Given the description of an element on the screen output the (x, y) to click on. 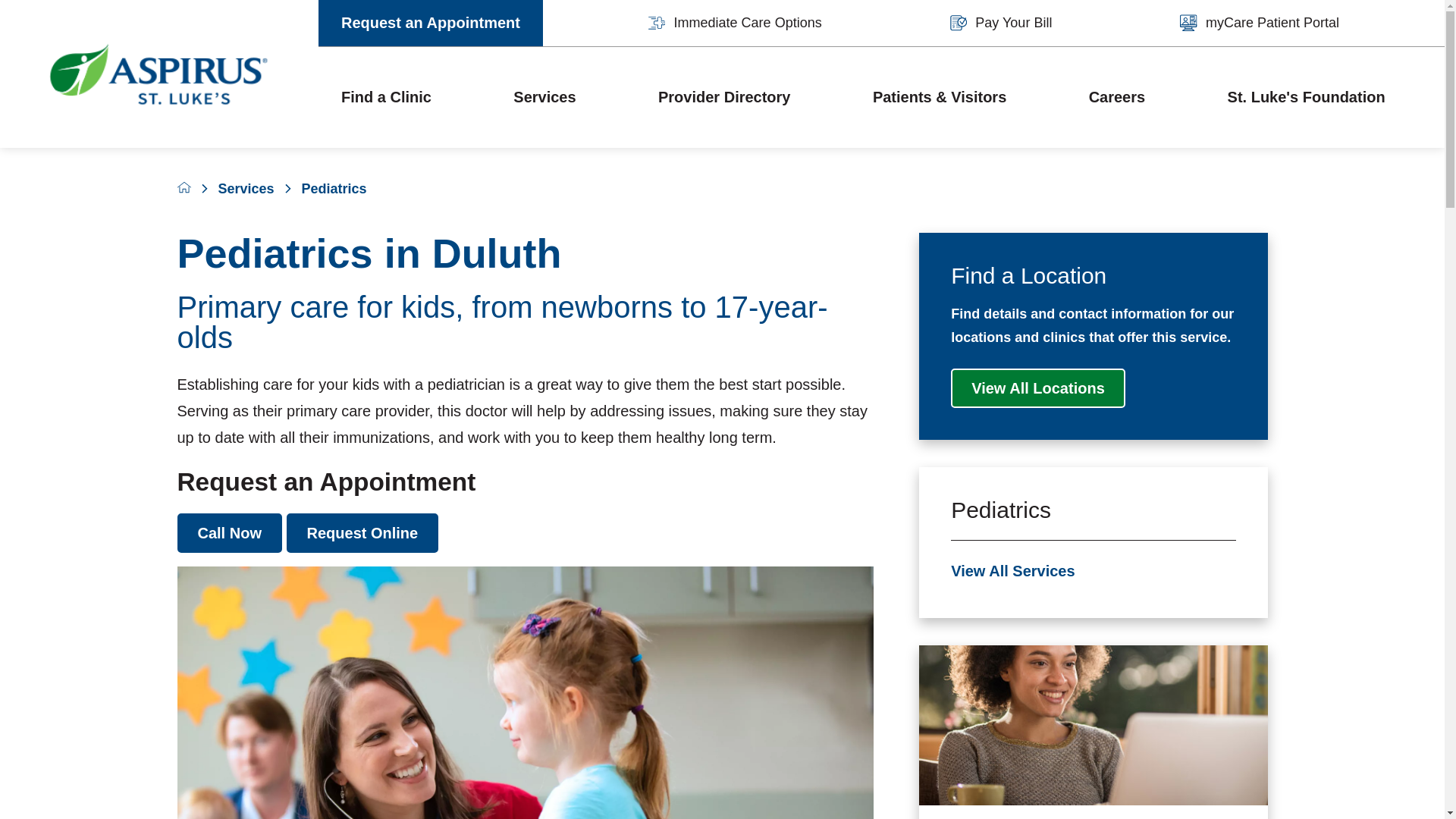
Aspirus St. Luke's (158, 74)
Pay Your Bill (1001, 22)
Immediate Care Options (735, 22)
Request an Appointment (430, 22)
Services (544, 97)
Find a Clinic (385, 97)
myCare Patient Portal (1259, 22)
Provider Directory (724, 97)
